Given the description of an element on the screen output the (x, y) to click on. 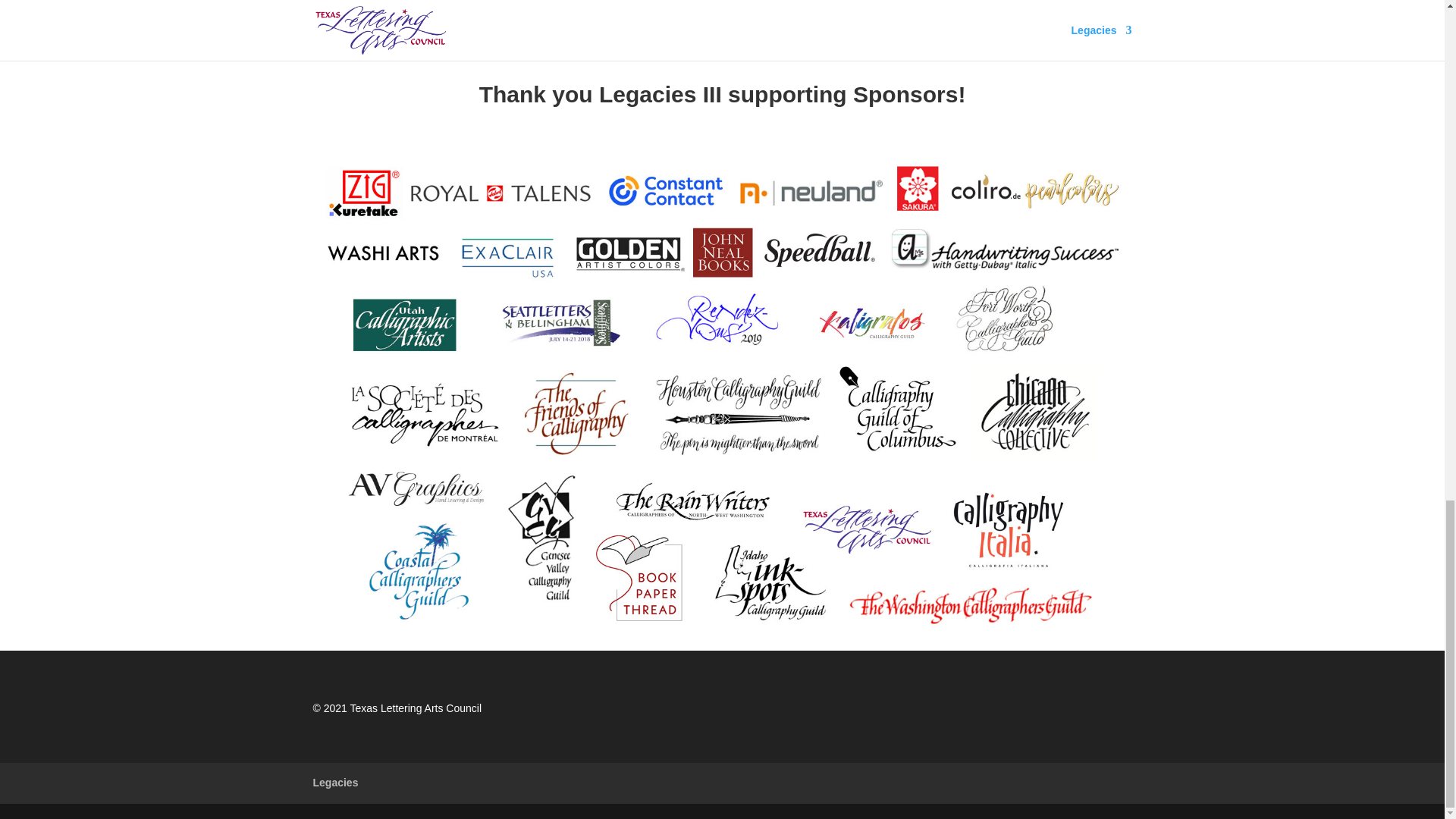
Legacies (335, 782)
